Given the description of an element on the screen output the (x, y) to click on. 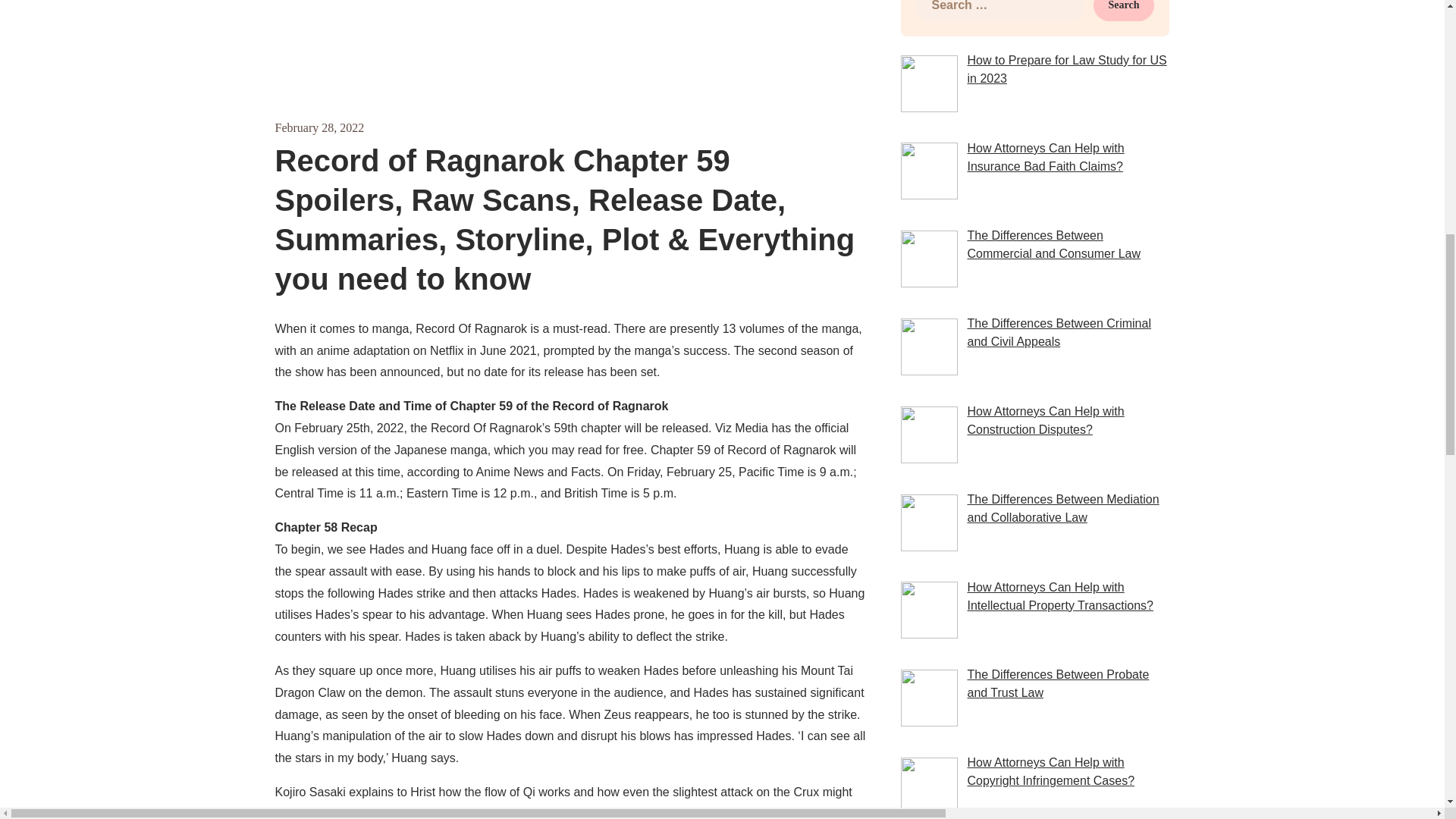
Search (1123, 10)
How Attorneys Can Help with Insurance Bad Faith Claims? (1045, 156)
Search (1123, 10)
Search (1123, 10)
How to Prepare for Law Study for US in 2023 (1066, 69)
How Attorneys Can Help with Construction Disputes? (1045, 419)
February 28, 2022 (319, 127)
How Attorneys Can Help with Copyright Infringement Cases? (1050, 771)
The Differences Between Probate and Trust Law (1057, 683)
The Differences Between Criminal and Civil Appeals (1058, 332)
The Differences Between Commercial and Consumer Law (1053, 244)
The Differences Between Mediation and Collaborative Law (1062, 508)
